Given the description of an element on the screen output the (x, y) to click on. 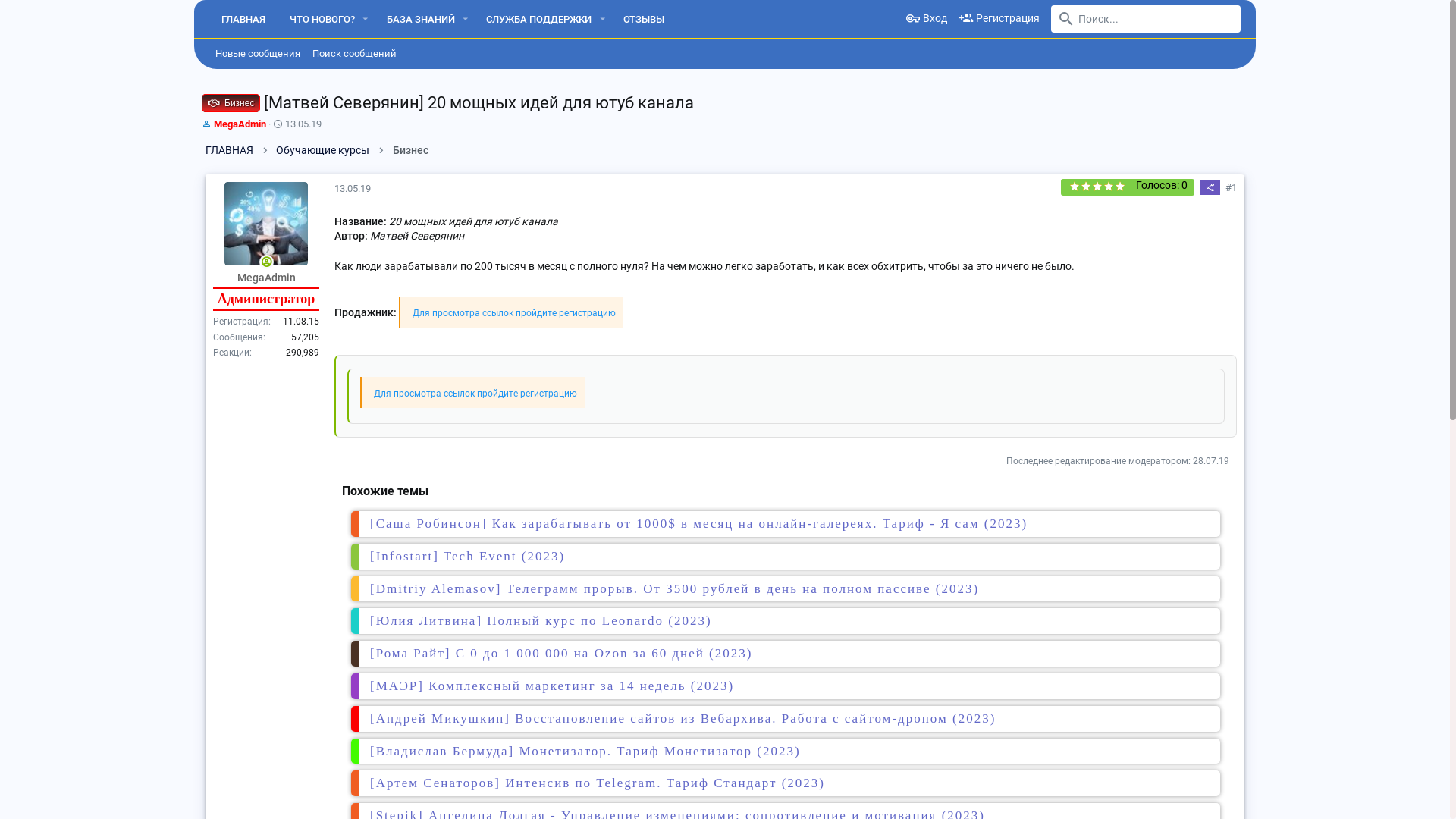
MegaAdmin Element type: text (239, 123)
MegaAdmin Element type: hover (265, 223)
13.05.19 Element type: text (352, 188)
[Infostart] Tech Event (2023) Element type: text (467, 556)
#1 Element type: text (1230, 187)
